Given the description of an element on the screen output the (x, y) to click on. 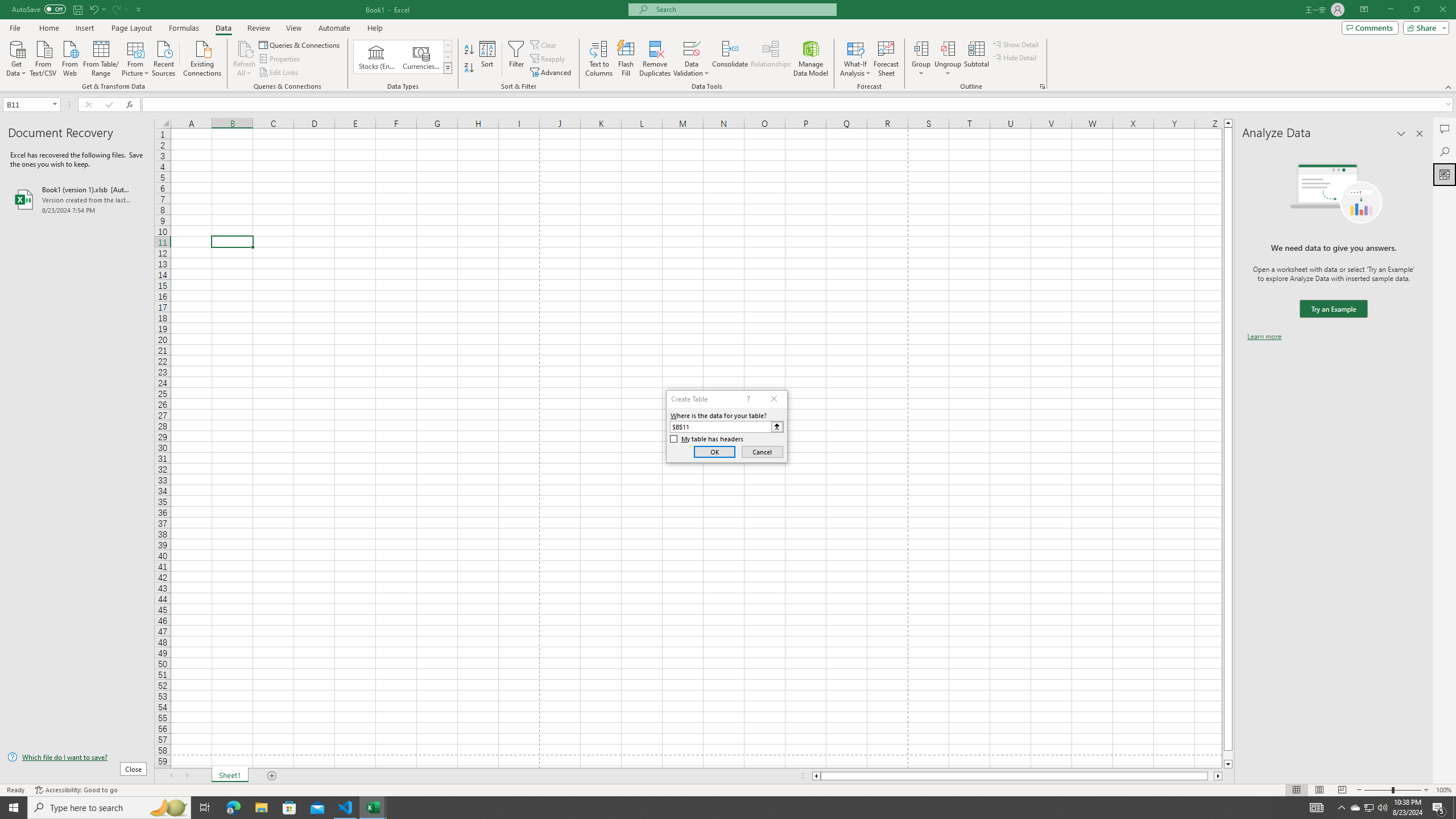
We need data to give you answers. Try an Example (1333, 308)
